Given the description of an element on the screen output the (x, y) to click on. 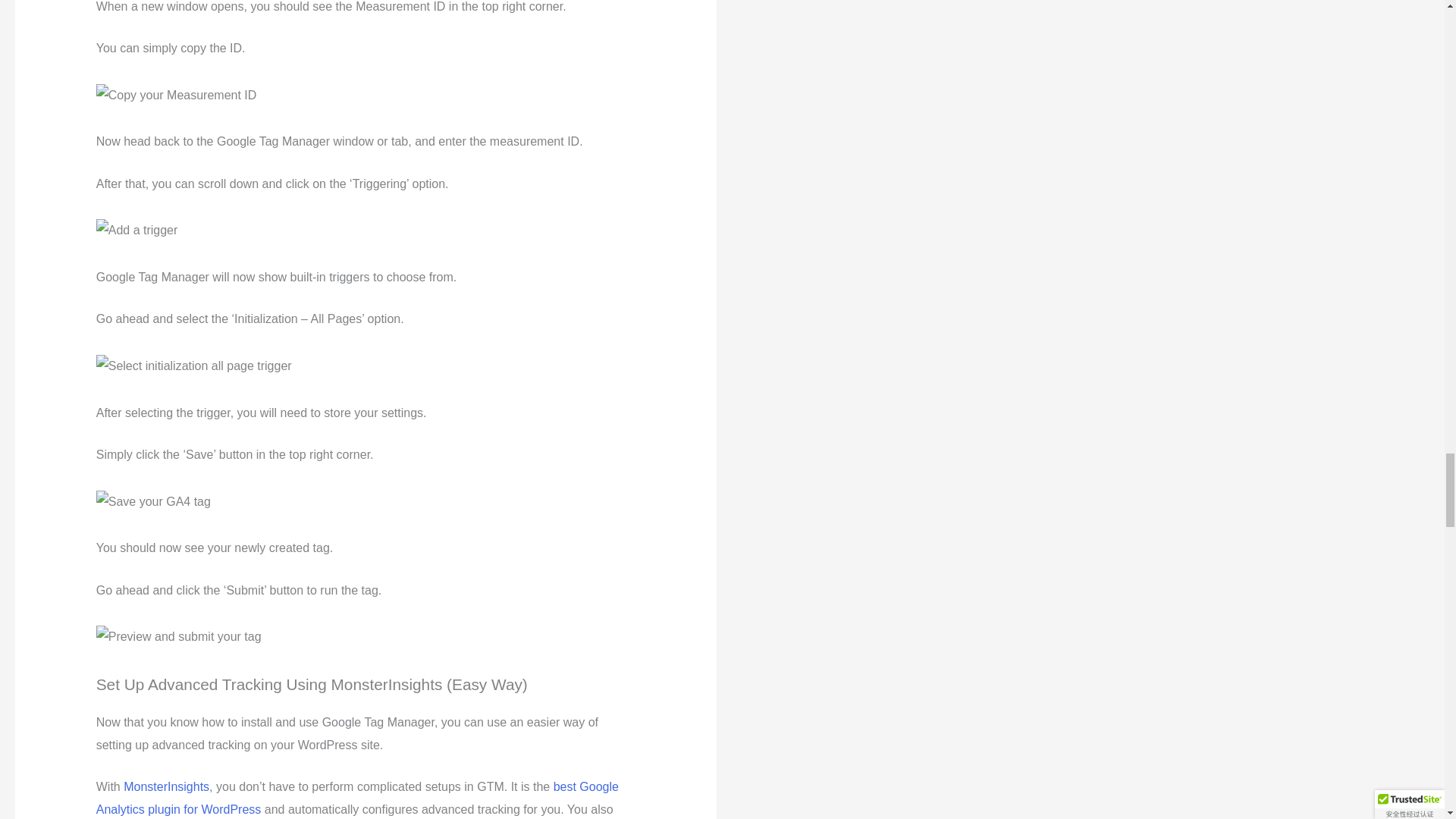
best Google Analytics plugin for WordPress (357, 797)
11 Best Analytics Solutions for WordPress Users (357, 797)
MonsterInsights - WordPress Analytics Plugin (166, 786)
MonsterInsights (166, 786)
